Given the description of an element on the screen output the (x, y) to click on. 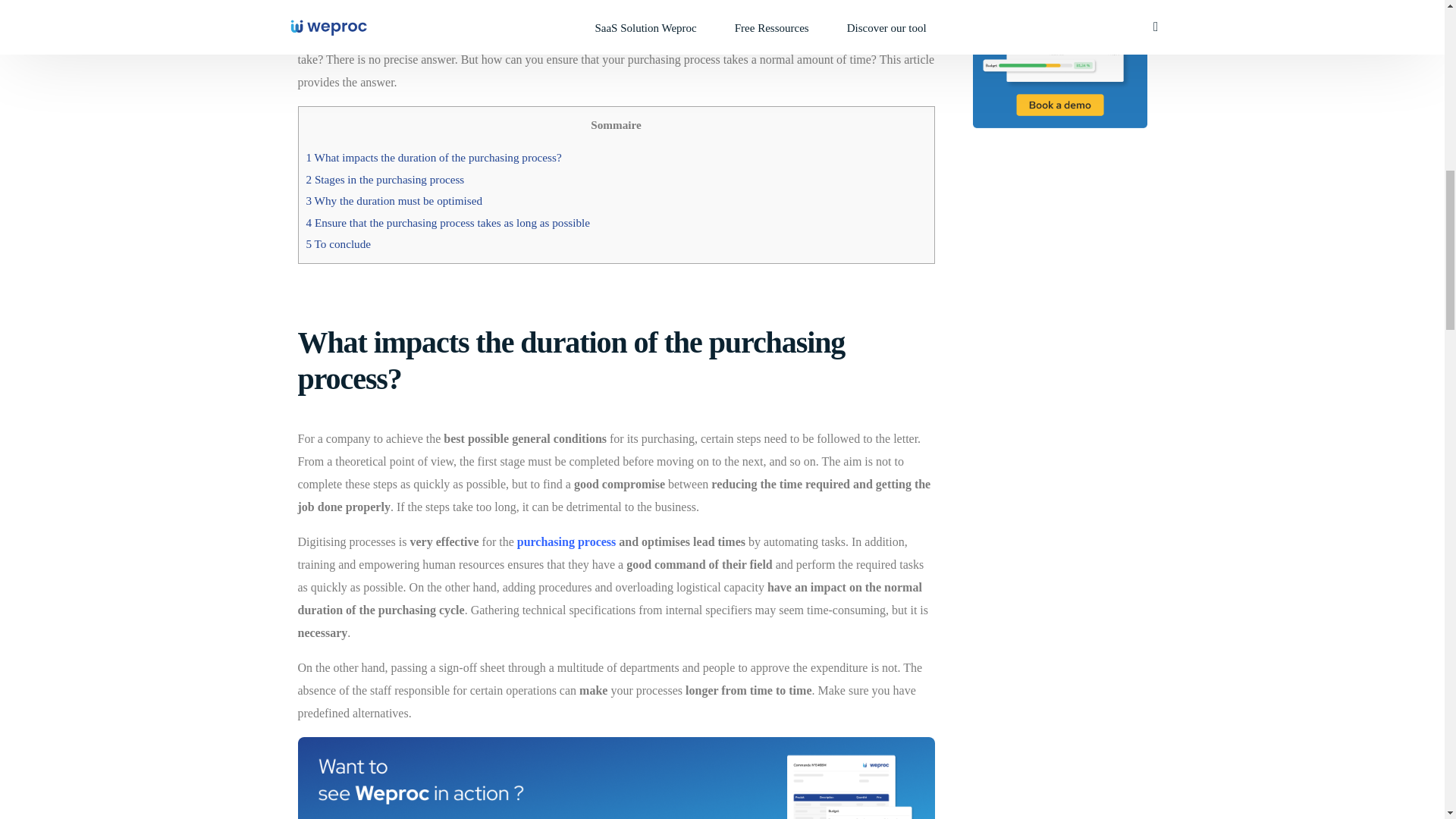
2 Stages in the purchasing process (384, 178)
purchasing process (565, 541)
3 Why the duration must be optimised (394, 200)
5 To conclude (338, 243)
1 What impacts the duration of the purchasing process? (433, 156)
